Given the description of an element on the screen output the (x, y) to click on. 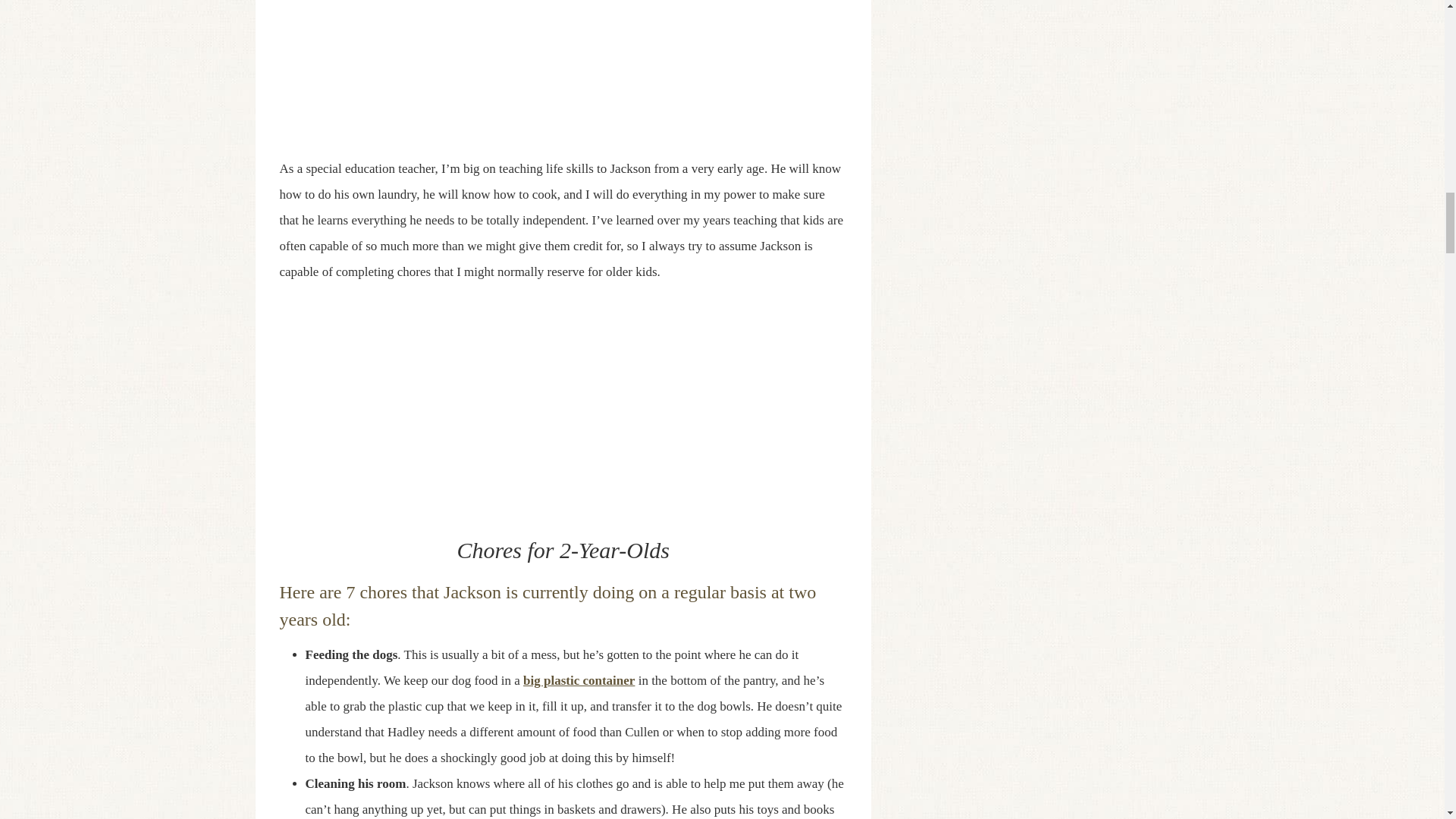
big plastic container (578, 680)
